Given the description of an element on the screen output the (x, y) to click on. 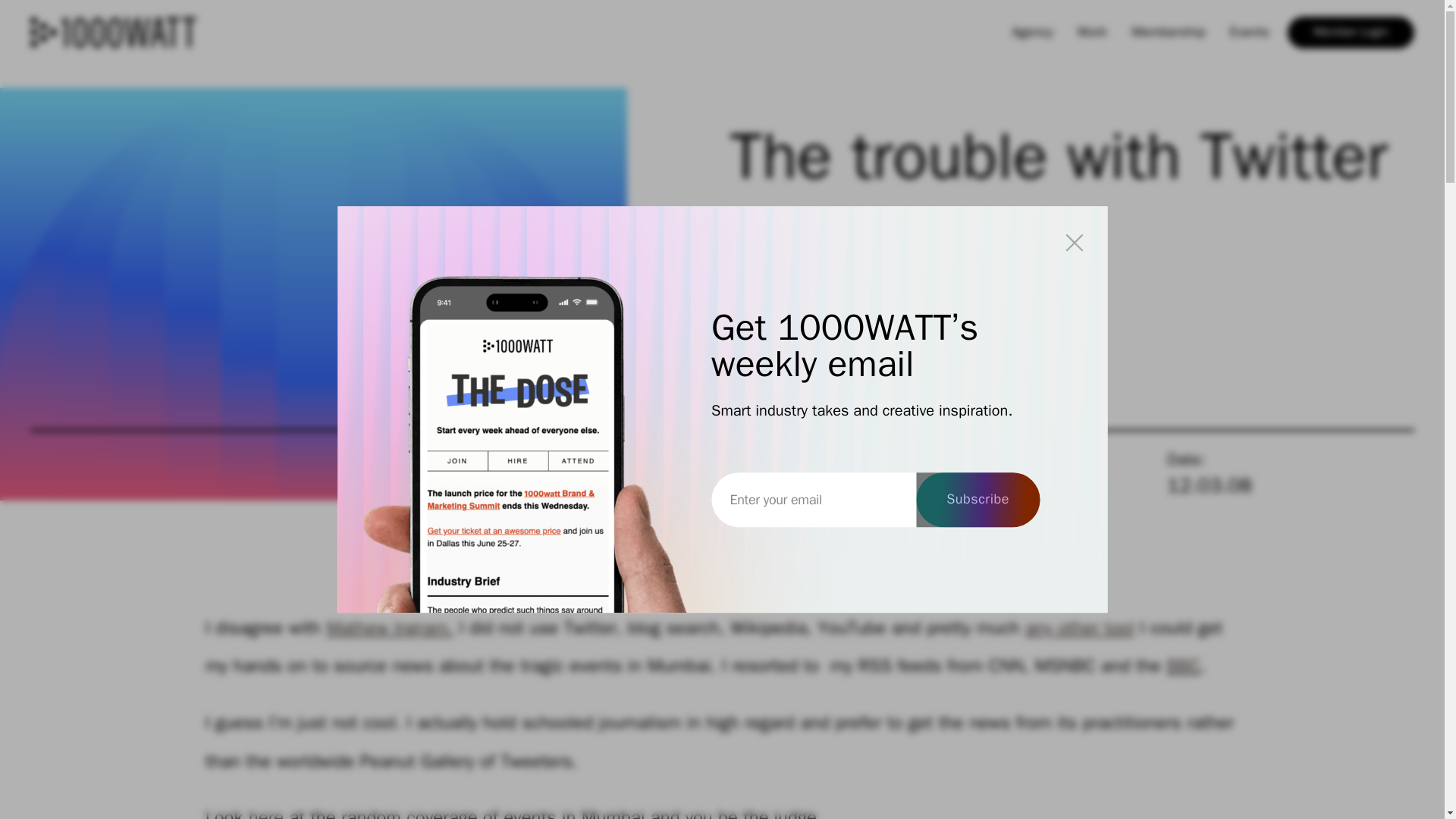
here (265, 812)
Events (1249, 32)
Subscribe (977, 499)
Member Login (1350, 31)
any other tool (1079, 627)
Subscribe (977, 499)
Agency (1032, 32)
Membership (1168, 32)
BBC (1182, 665)
Work (1092, 32)
Mathew Ingram. (389, 627)
